Given the description of an element on the screen output the (x, y) to click on. 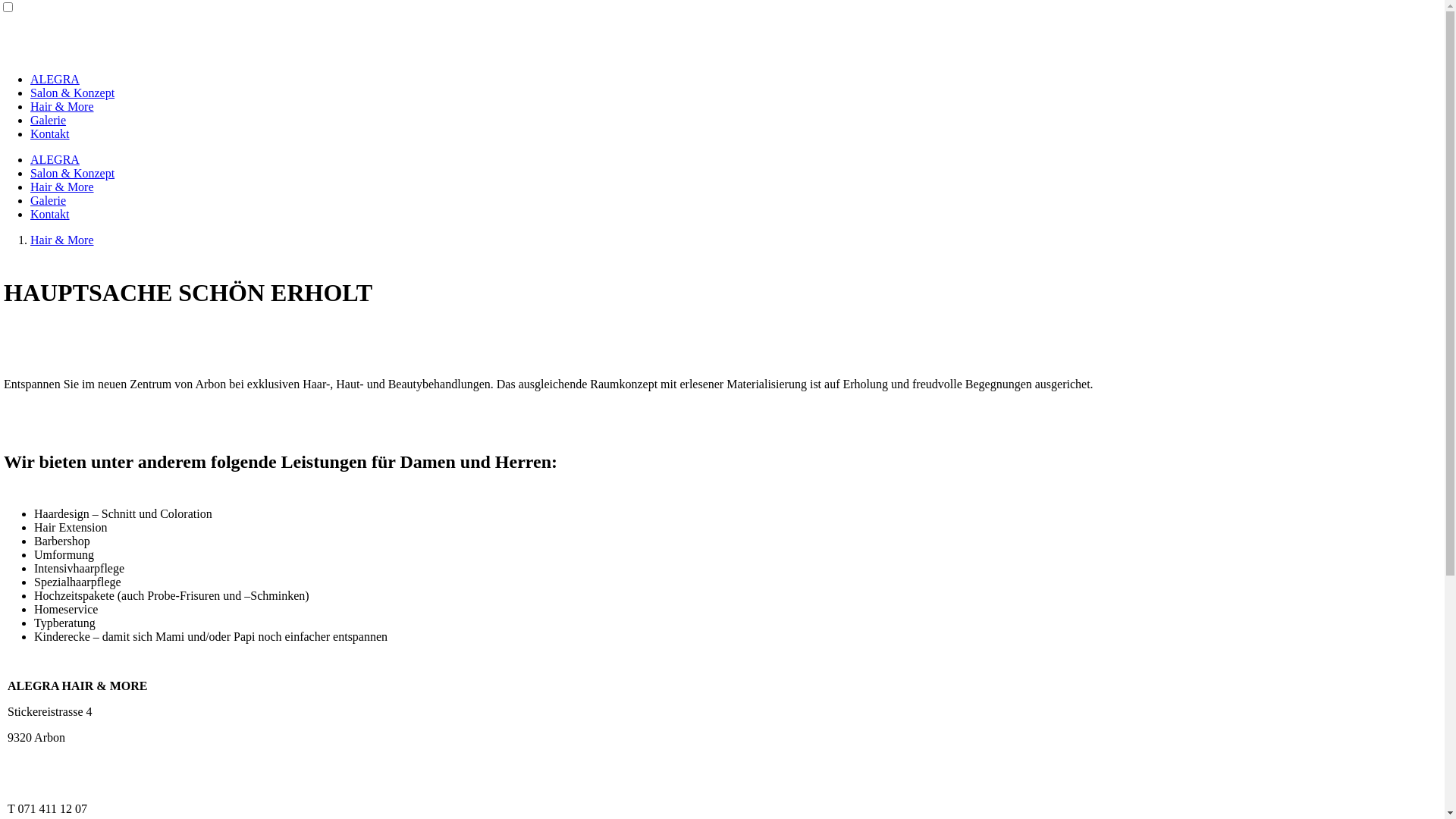
ALEGRA Element type: text (54, 159)
Galerie Element type: text (47, 119)
Hair & More Element type: text (62, 186)
Salon & Konzept Element type: text (72, 172)
Hair & More Element type: text (62, 239)
Kontakt Element type: text (49, 213)
Galerie Element type: text (47, 200)
Kontakt Element type: text (49, 133)
Salon & Konzept Element type: text (72, 92)
ALEGRA Element type: text (54, 78)
Hair & More Element type: text (62, 106)
